Given the description of an element on the screen output the (x, y) to click on. 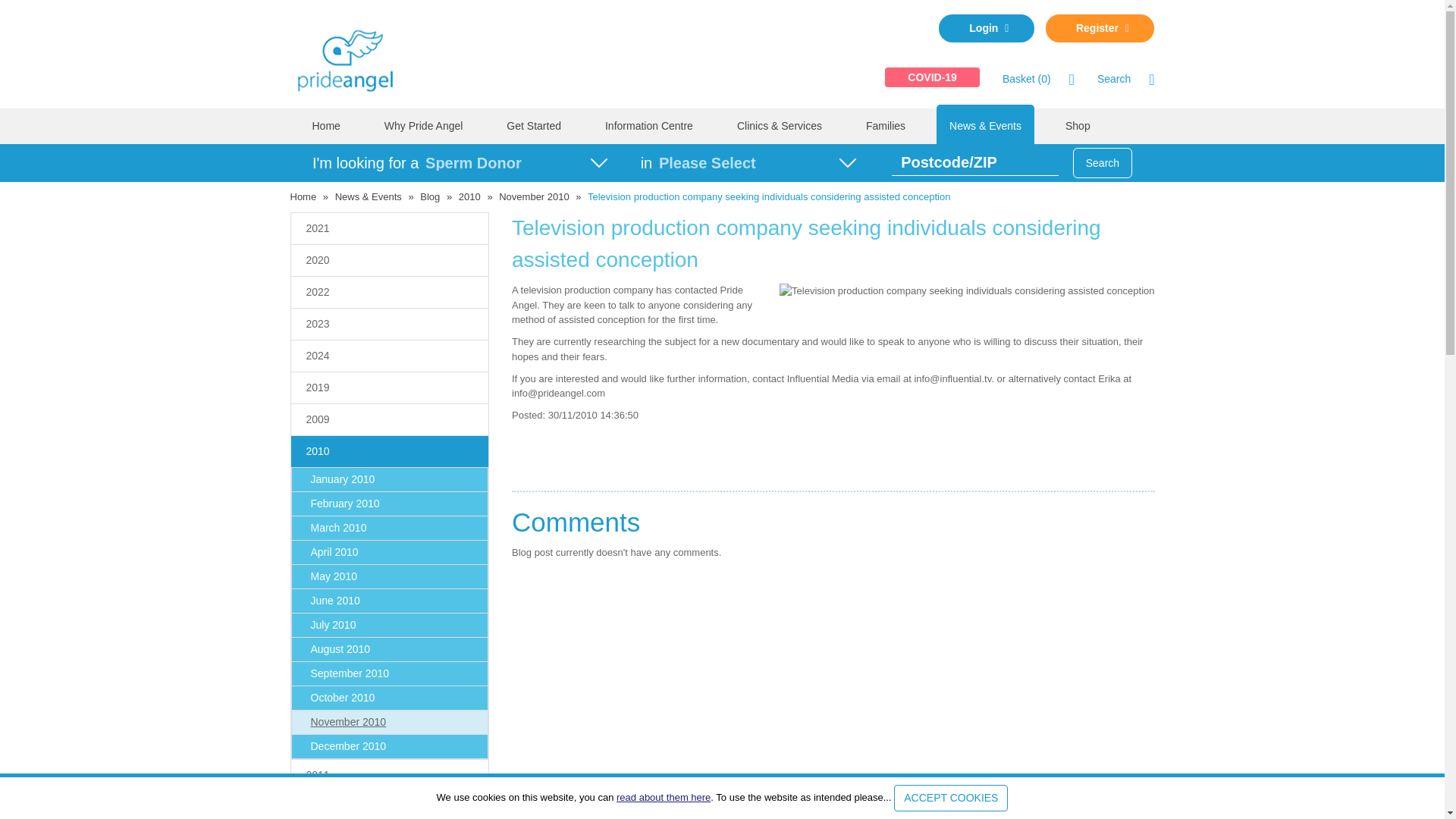
COVID-19 (932, 76)
November 2010 (534, 196)
Search (1114, 78)
Blog (429, 196)
2010 (469, 196)
Register (1099, 28)
Login (986, 28)
Basket (1026, 78)
Pride Angel (351, 57)
